Given the description of an element on the screen output the (x, y) to click on. 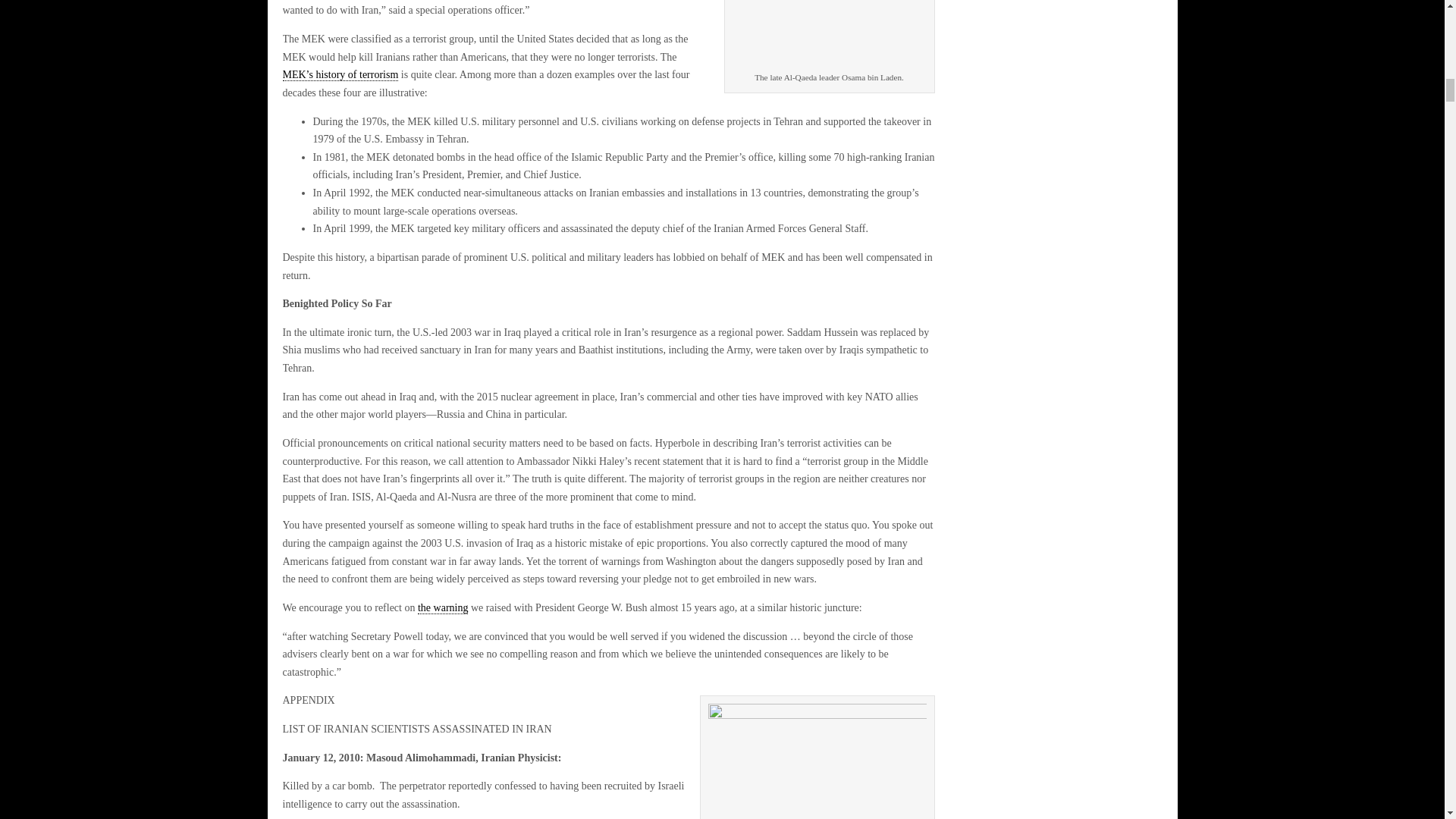
the warning (442, 607)
